Given the description of an element on the screen output the (x, y) to click on. 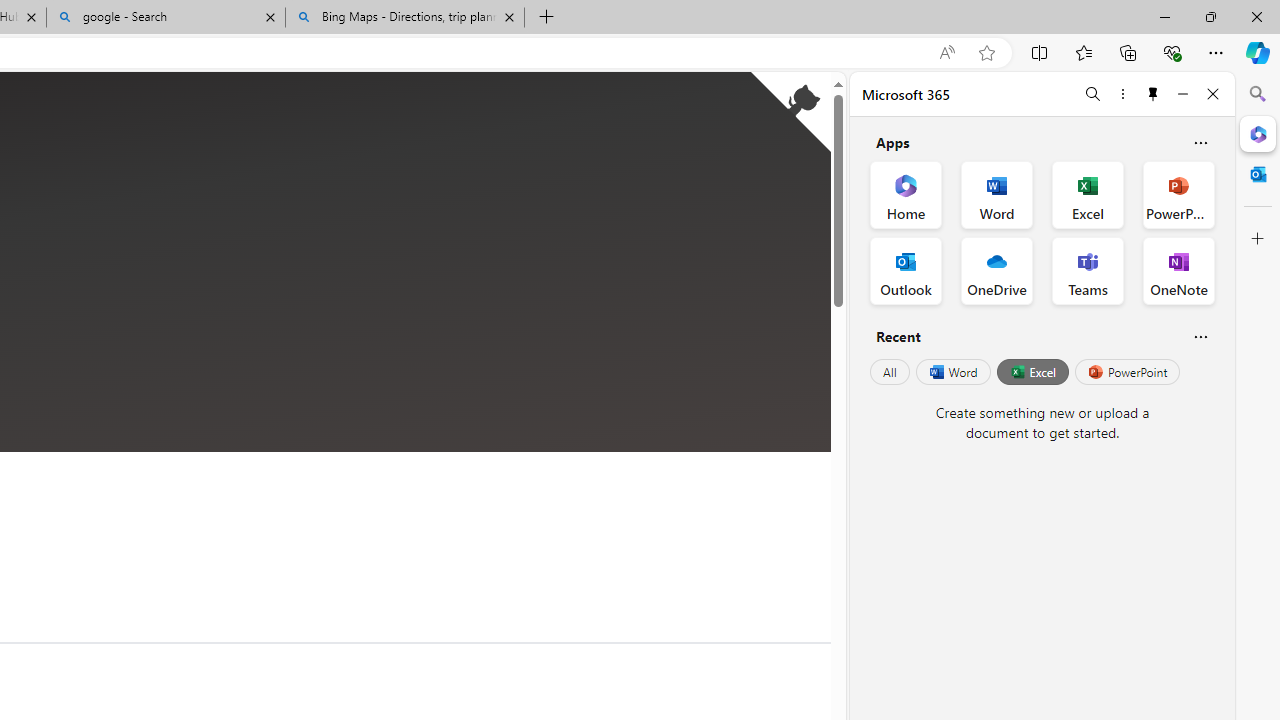
Word (952, 372)
OneDrive Office App (996, 270)
PowerPoint Office App (1178, 194)
Home Office App (906, 194)
Open GitHub project (790, 111)
